Given the description of an element on the screen output the (x, y) to click on. 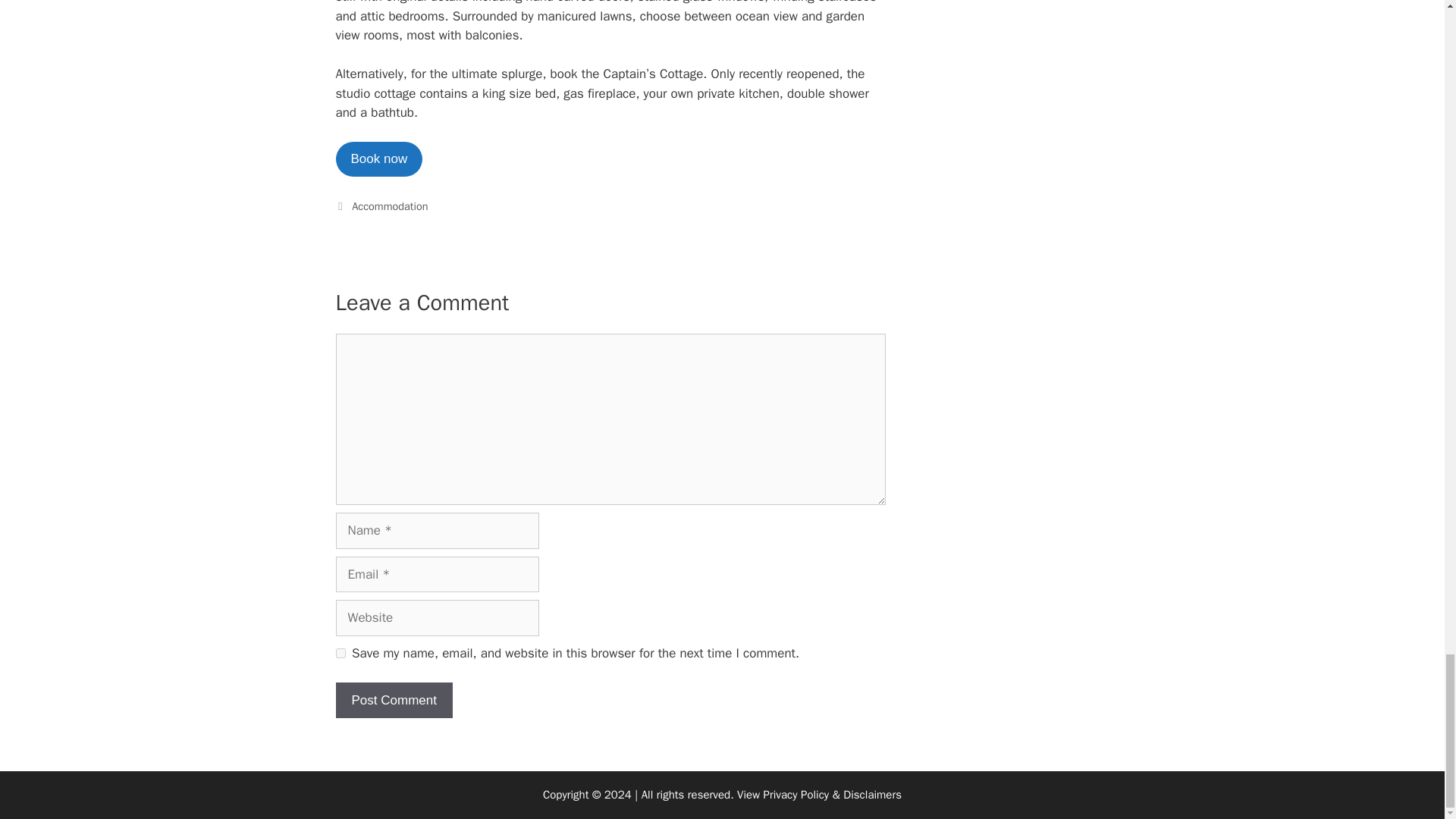
yes (339, 653)
Book now (378, 158)
Accommodation (390, 205)
Post Comment (392, 700)
Post Comment (392, 700)
